Given the description of an element on the screen output the (x, y) to click on. 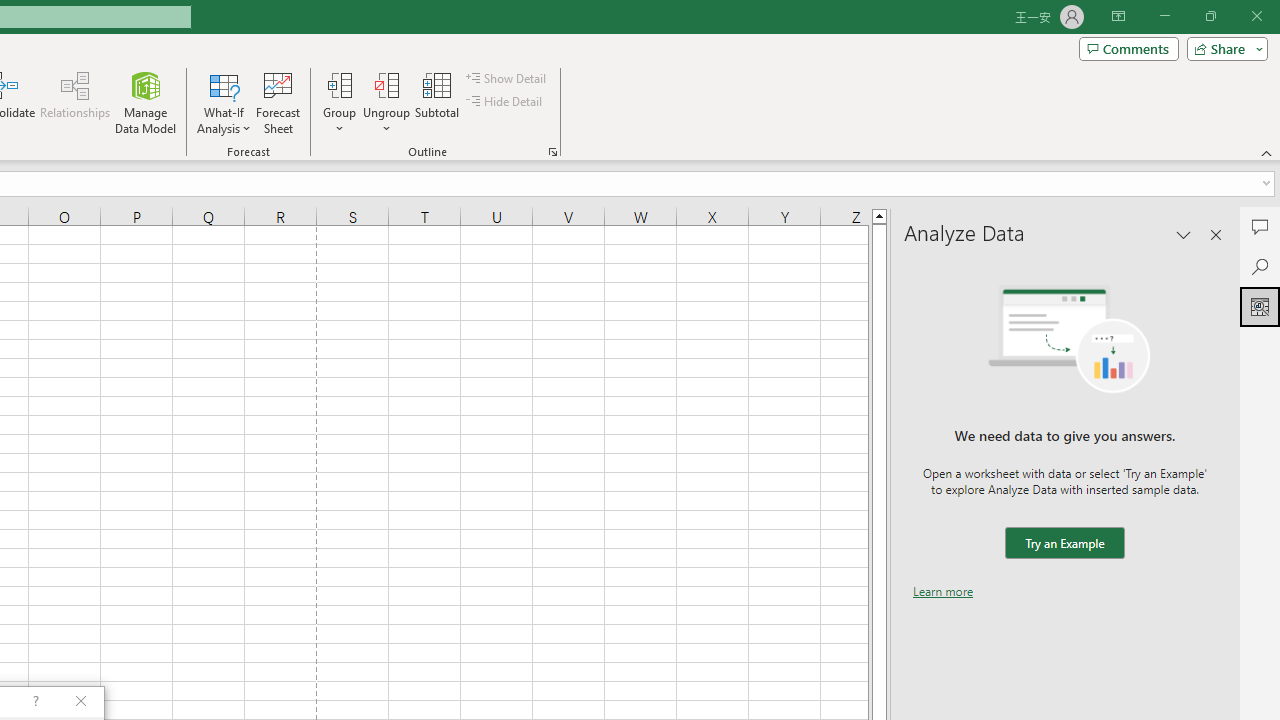
Restore Down (1210, 16)
Task Pane Options (1183, 234)
Show Detail (507, 78)
Share (1223, 48)
Ribbon Display Options (1118, 16)
Minimize (1164, 16)
Group... (339, 102)
Ungroup... (386, 102)
What-If Analysis (223, 102)
Search (1260, 266)
